Given the description of an element on the screen output the (x, y) to click on. 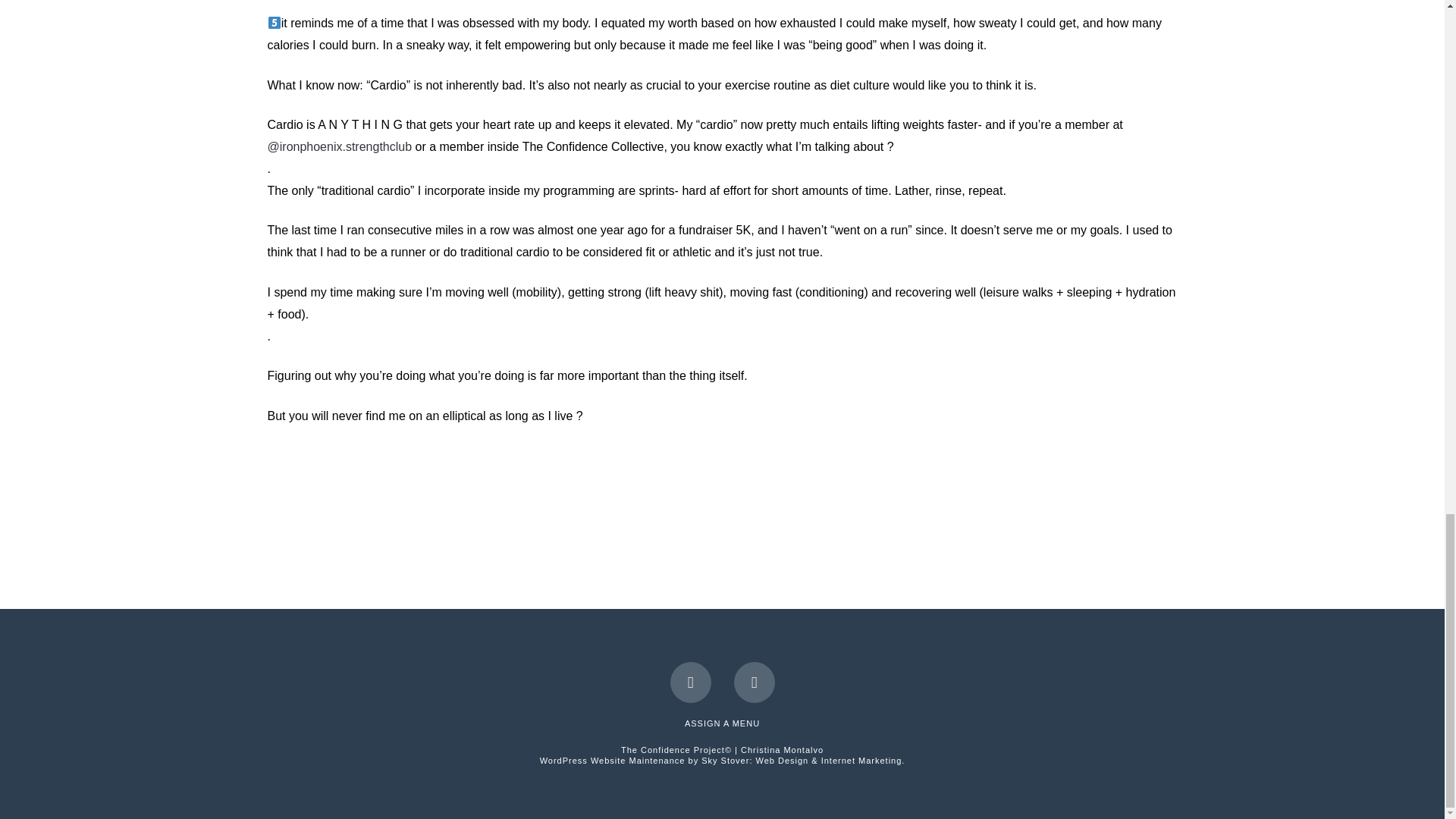
WordPress Website Maintenance (722, 759)
ASSIGN A MENU (722, 723)
RSS (753, 681)
Instagram (690, 681)
